Given the description of an element on the screen output the (x, y) to click on. 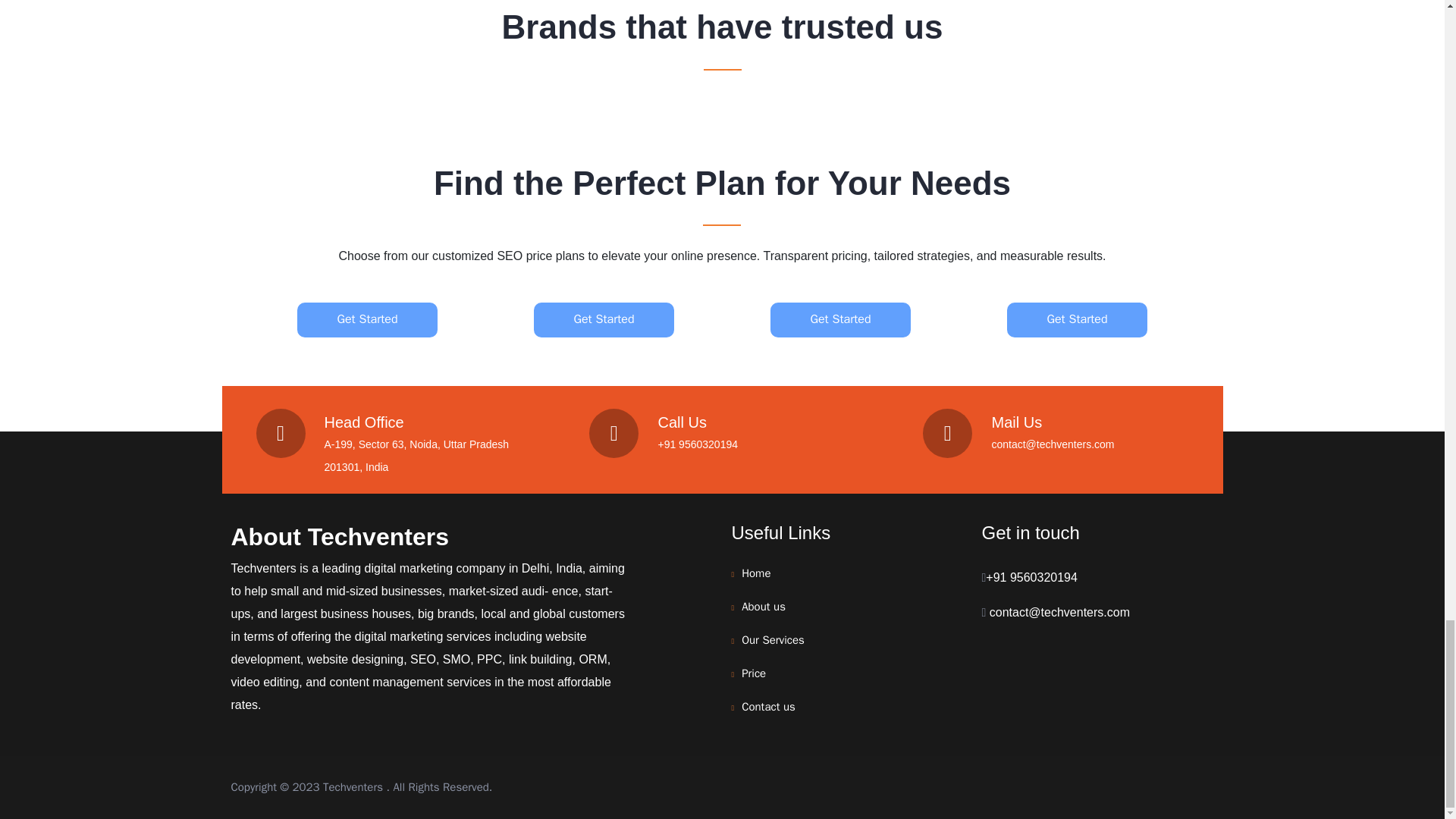
Get Started (840, 319)
About us (763, 606)
Home (755, 572)
Price (753, 673)
Contact us (767, 706)
Home (755, 572)
Price (753, 673)
Get Started (603, 319)
Get Started (1077, 319)
Our Services (773, 640)
Contact us (767, 706)
Our Services (773, 640)
Get Started (366, 319)
About us (763, 606)
